Given the description of an element on the screen output the (x, y) to click on. 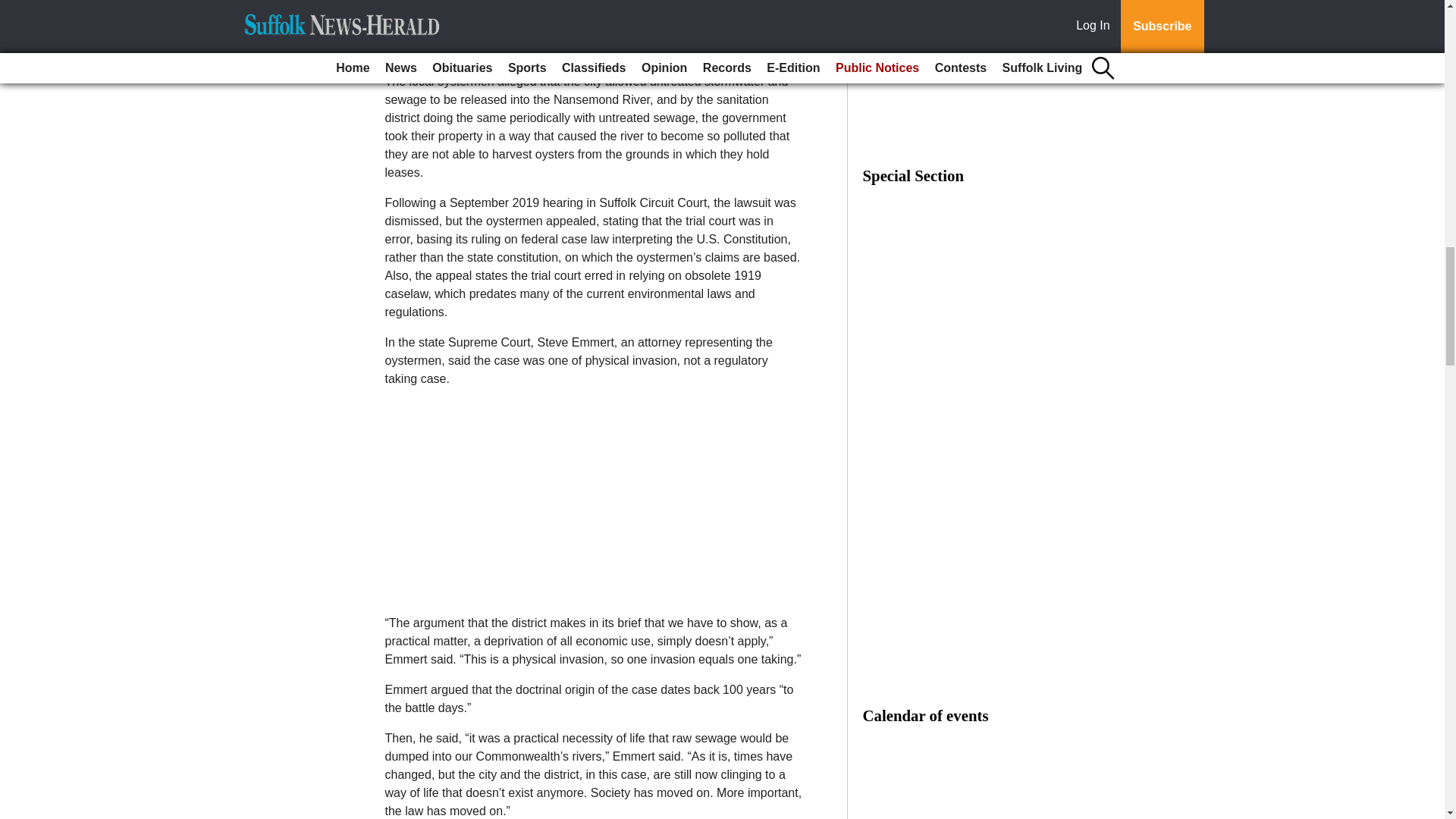
Subscribe (434, 31)
Subscribe (434, 31)
